Given the description of an element on the screen output the (x, y) to click on. 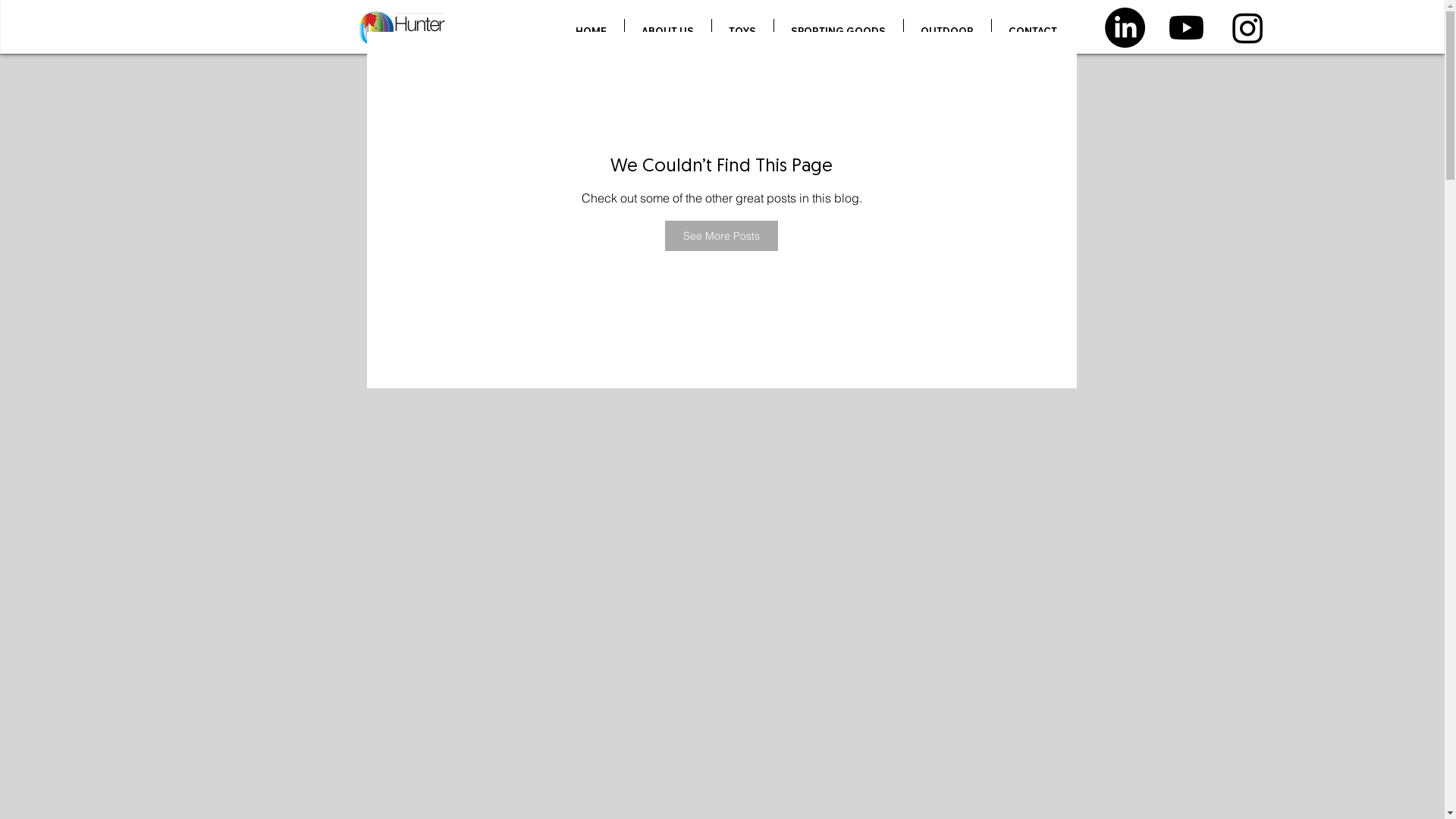
HOME Element type: text (591, 30)
TOYS Element type: text (741, 30)
SPORTING GOODS Element type: text (837, 30)
OUTDOOR Element type: text (947, 30)
See More Posts Element type: text (721, 235)
ABOUT US Element type: text (667, 30)
CONTACT Element type: text (1032, 30)
